Given the description of an element on the screen output the (x, y) to click on. 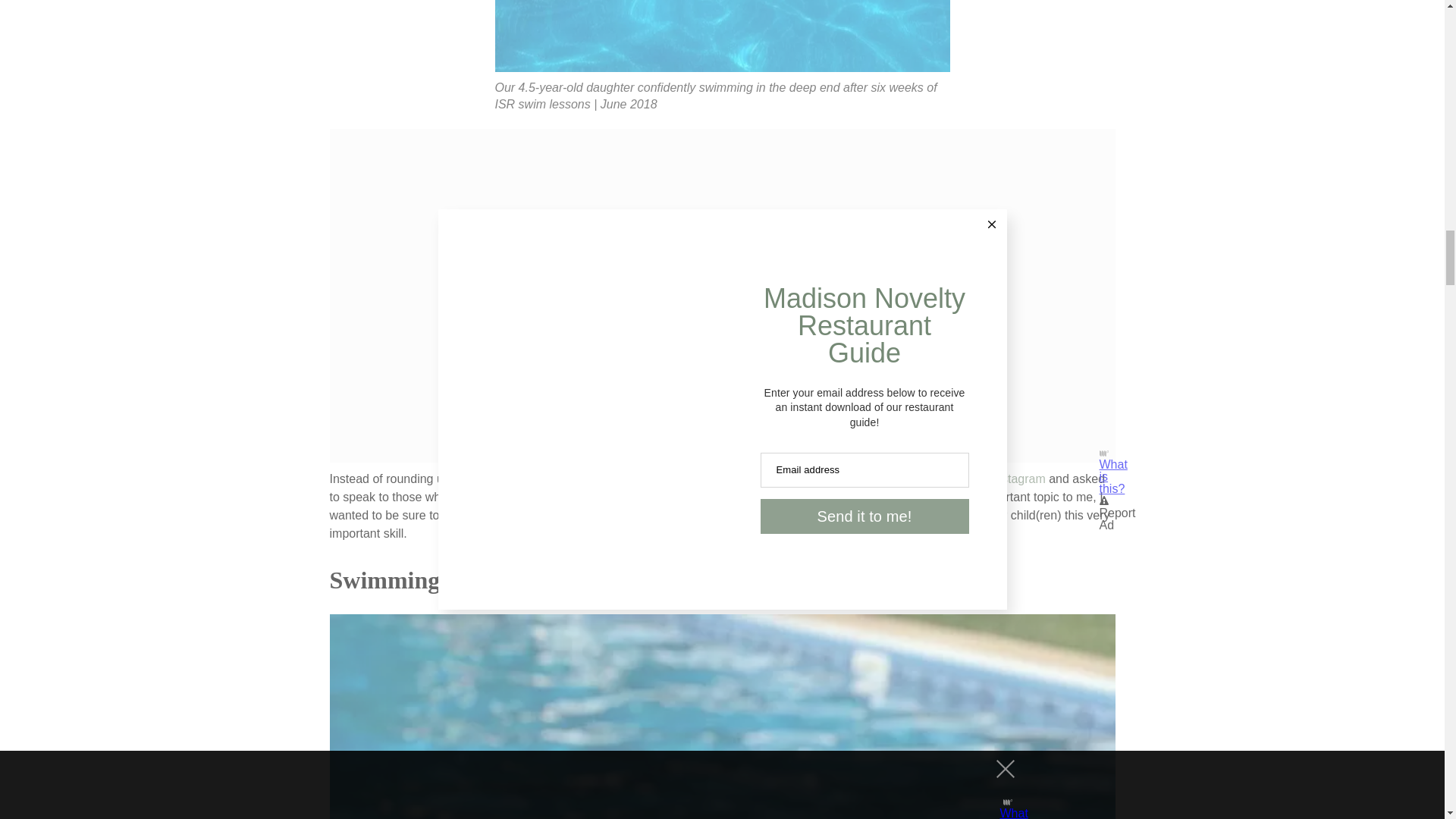
3rd party ad content (721, 223)
Instagram (1018, 478)
hadley (722, 39)
